Given the description of an element on the screen output the (x, y) to click on. 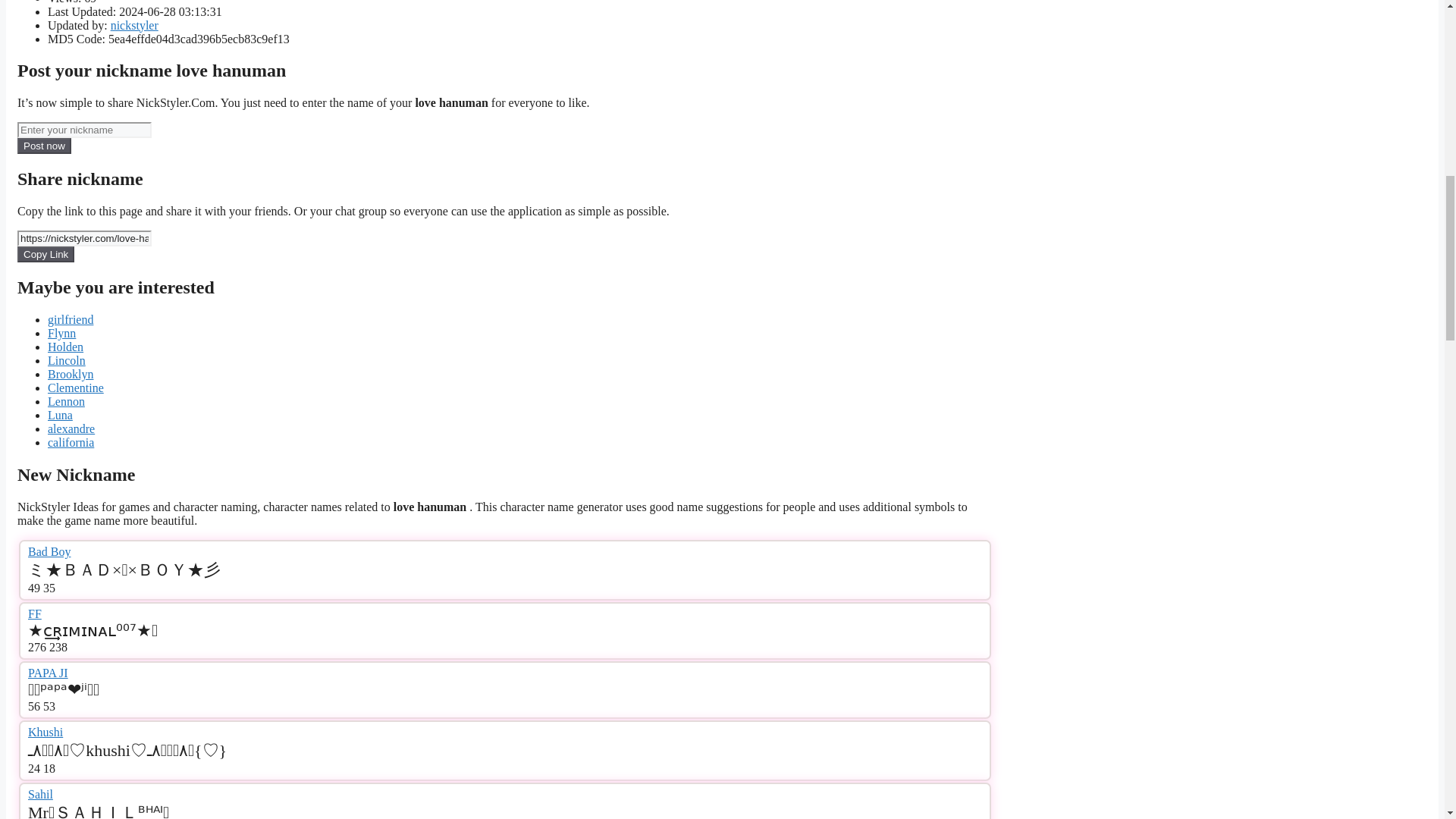
Flynn (61, 332)
nickstyler (134, 24)
Khushi (44, 731)
girlfriend (70, 318)
Clementine (75, 387)
Holden (65, 346)
Votes up (36, 646)
Votes down (49, 706)
nickstyler (134, 24)
Lincoln (66, 359)
FF (34, 613)
alexandre (71, 428)
Bad Boy (48, 551)
PAPA JI (47, 672)
Lennon (66, 400)
